Given the description of an element on the screen output the (x, y) to click on. 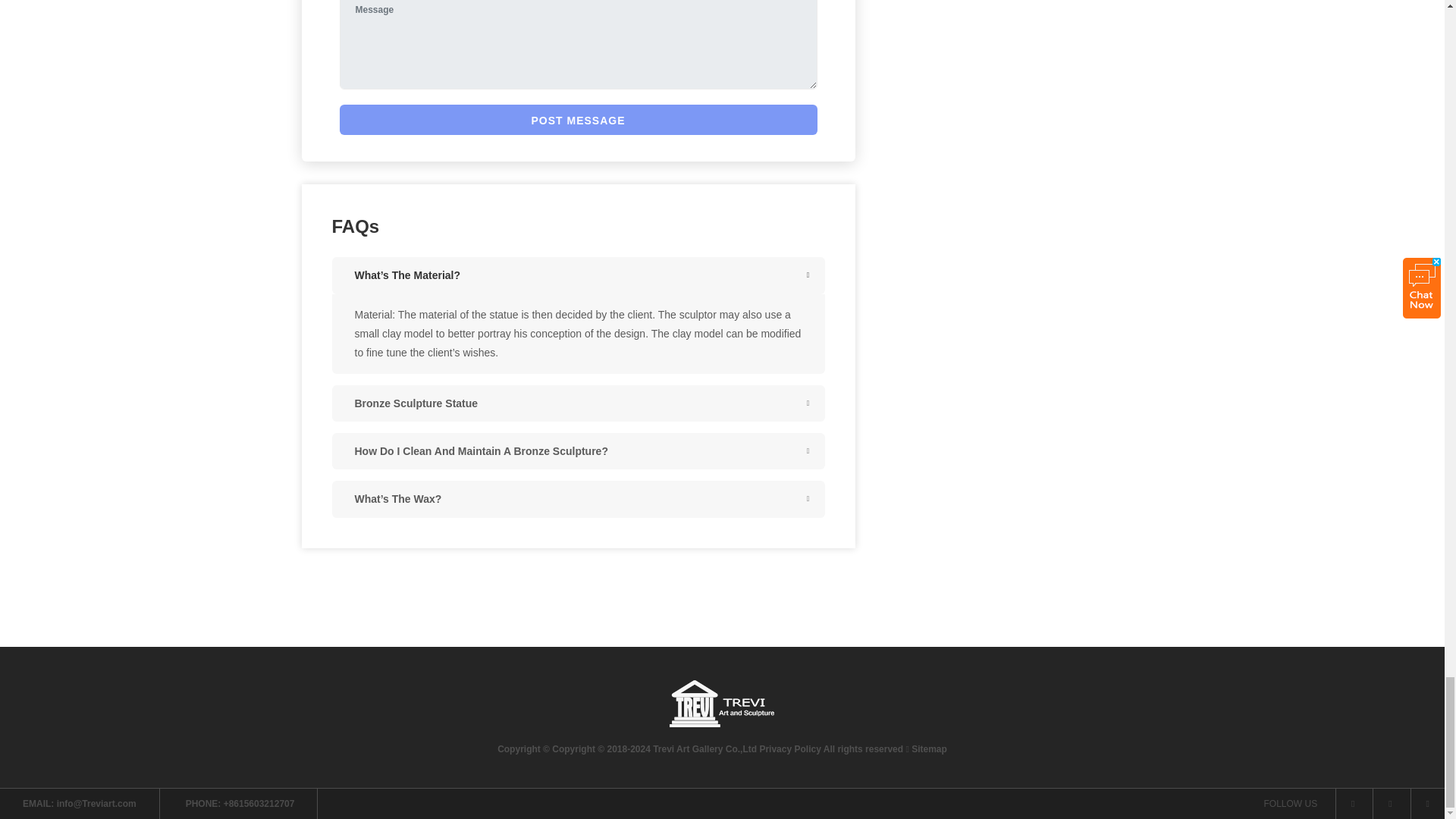
POST MESSAGE (577, 119)
Bronze Sculpture Statue (578, 402)
How Do I Clean And Maintain A Bronze Sculpture? (578, 451)
